Given the description of an element on the screen output the (x, y) to click on. 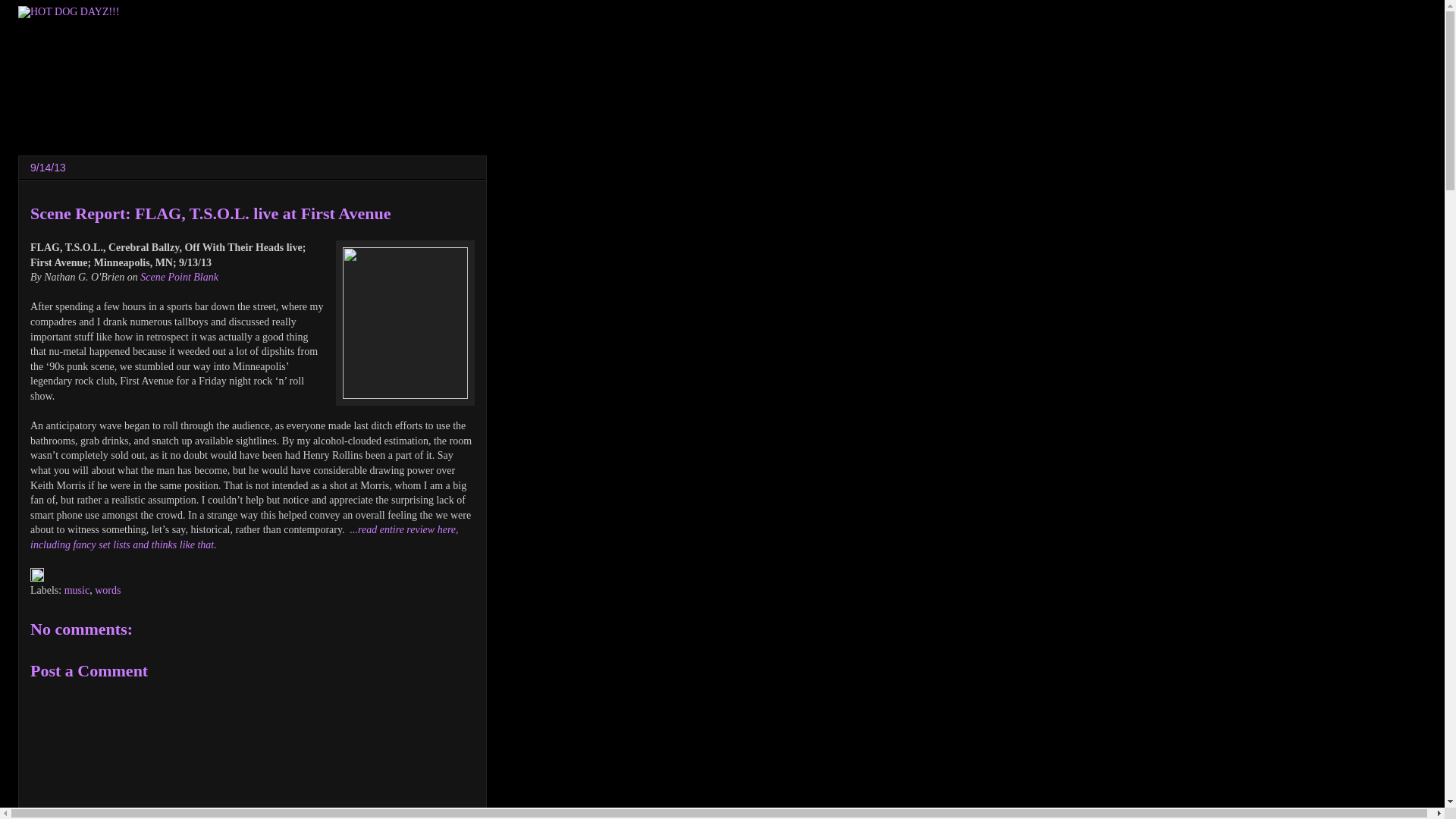
words (107, 590)
Edit Post (36, 577)
music (76, 590)
Scene Point Blank (178, 276)
